Given the description of an element on the screen output the (x, y) to click on. 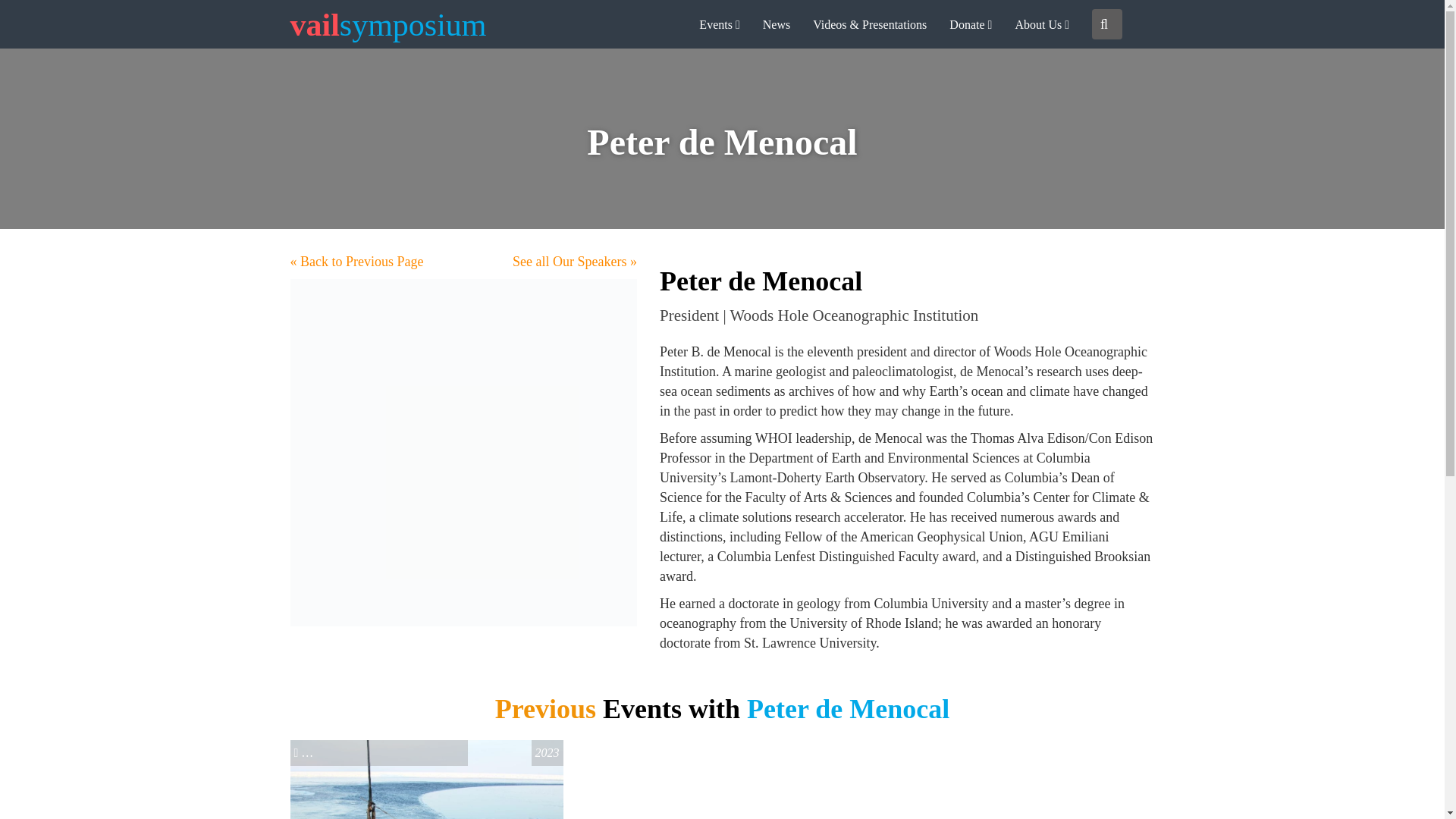
ENVIRONMENTAL AWARENESS (384, 752)
News (776, 24)
Donate (970, 24)
About Us (1041, 24)
vailsymposium (387, 24)
2023 (547, 752)
Events (719, 24)
